Given the description of an element on the screen output the (x, y) to click on. 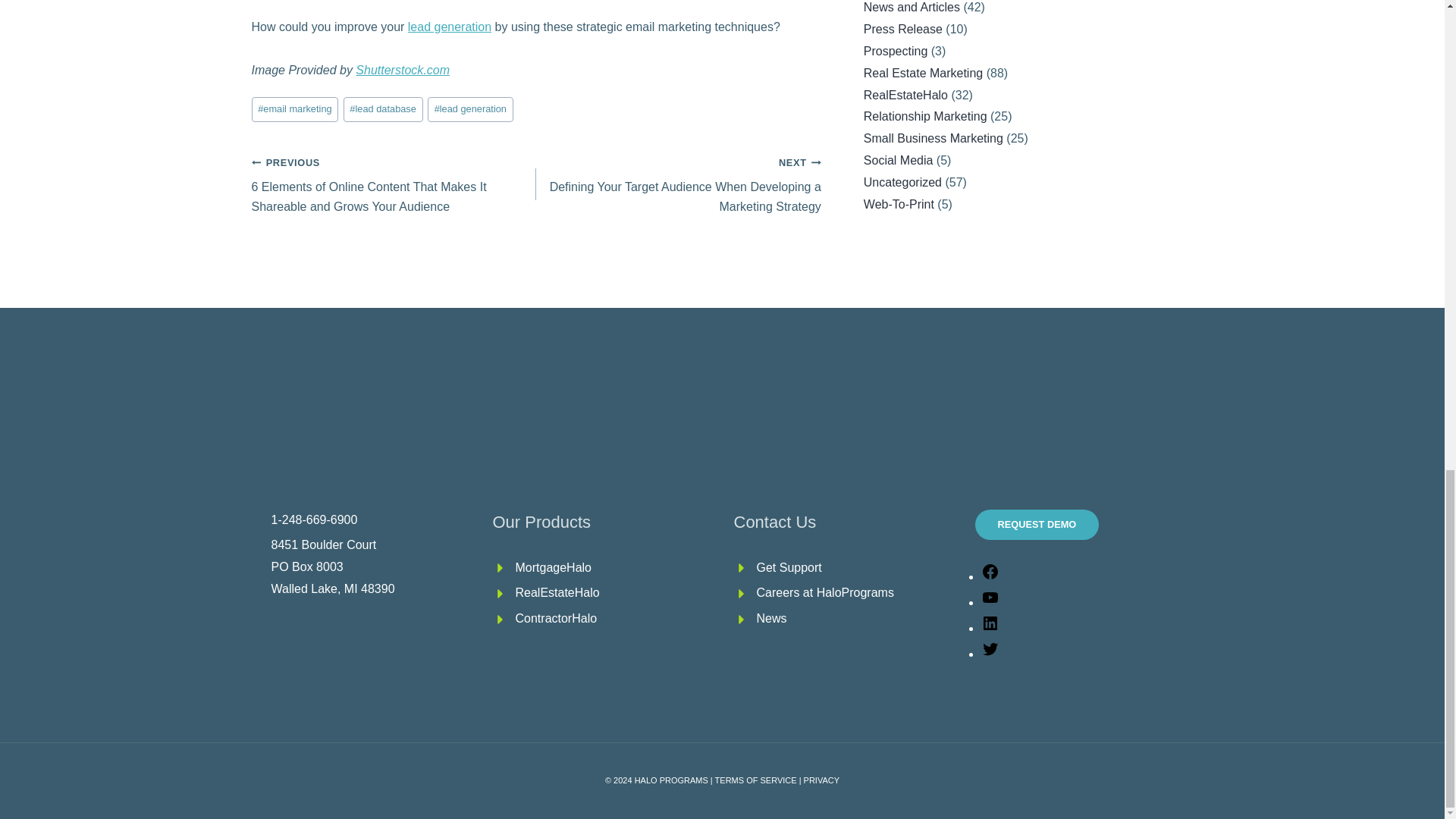
email marketing (295, 109)
lead generation (470, 109)
lead database (383, 109)
lead generation (449, 26)
Shutterstock.com (402, 69)
